Given the description of an element on the screen output the (x, y) to click on. 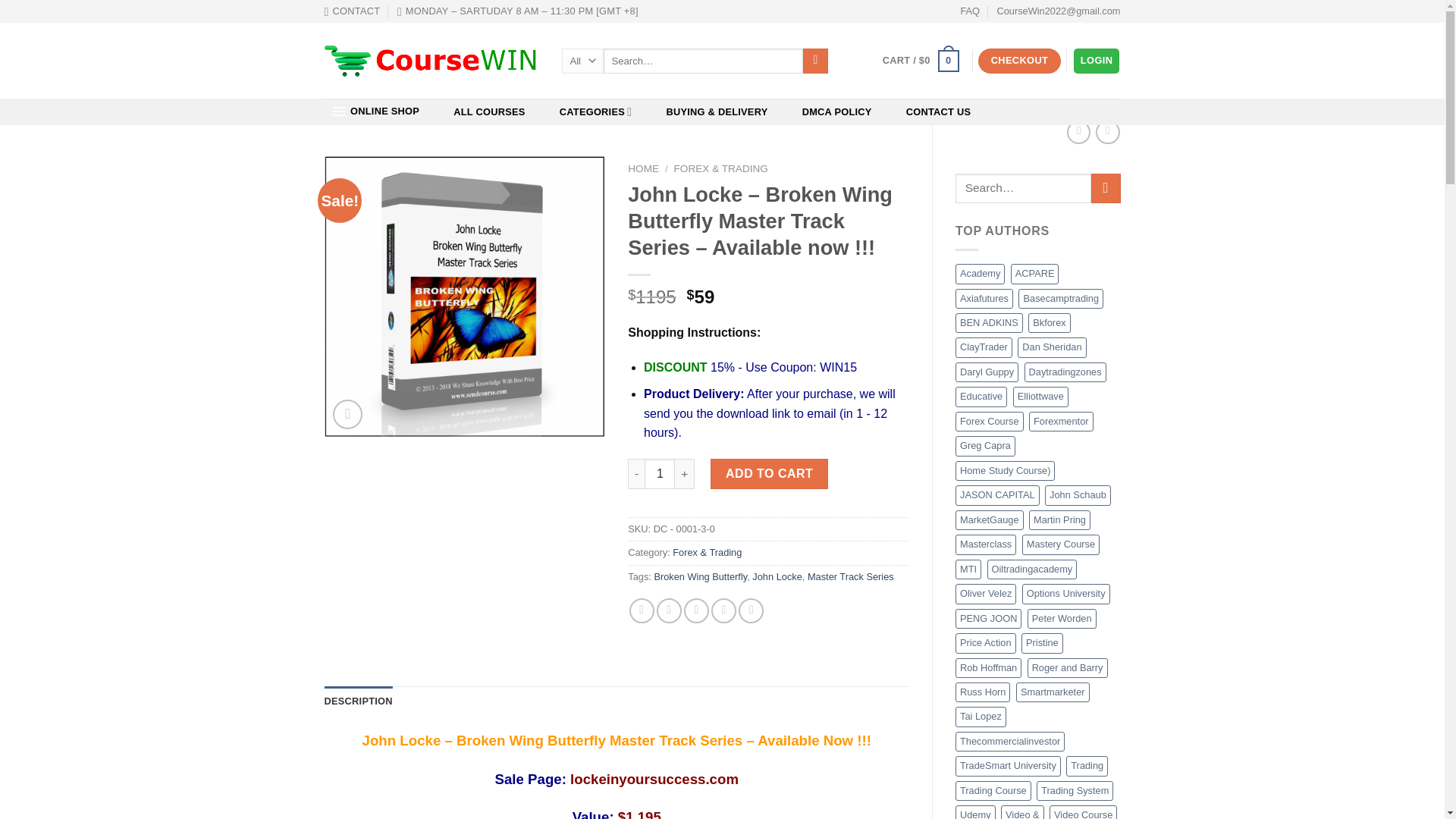
ClayTrader (983, 347)
Search (815, 61)
CHECKOUT (1018, 60)
ACPARE (1034, 273)
CONTACT (352, 11)
ONLINE SHOP (375, 111)
Zoom (347, 414)
DMCA POLICY (836, 111)
FAQ (969, 11)
Cart (920, 61)
